Given the description of an element on the screen output the (x, y) to click on. 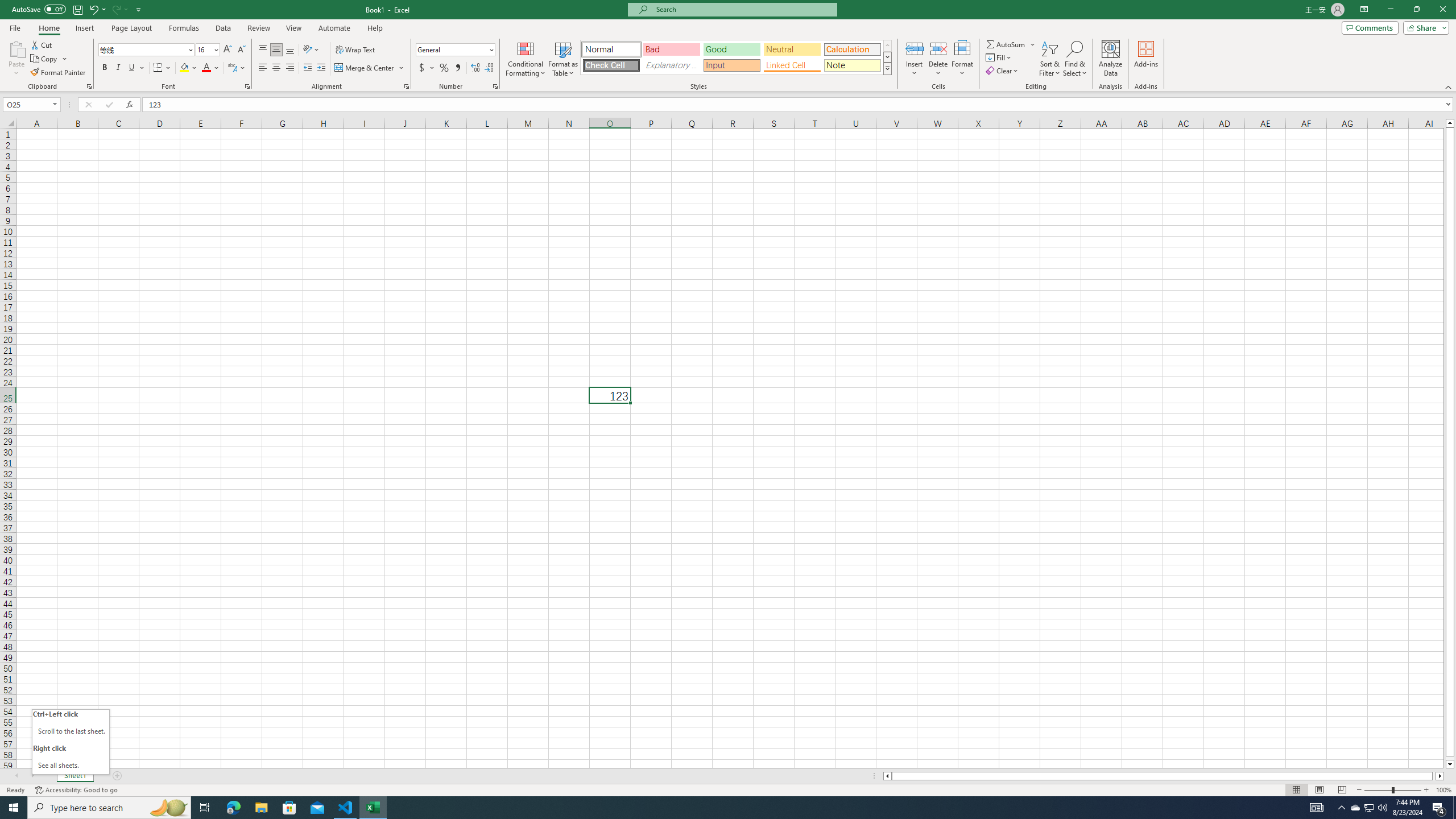
Bottom Border (157, 67)
Decrease Indent (307, 67)
Fill Color RGB(255, 255, 0) (183, 67)
Analyze Data (1110, 58)
Comma Style (457, 67)
Bottom Align (290, 49)
Fill (999, 56)
Note (852, 65)
Italic (118, 67)
Font (142, 49)
